Given the description of an element on the screen output the (x, y) to click on. 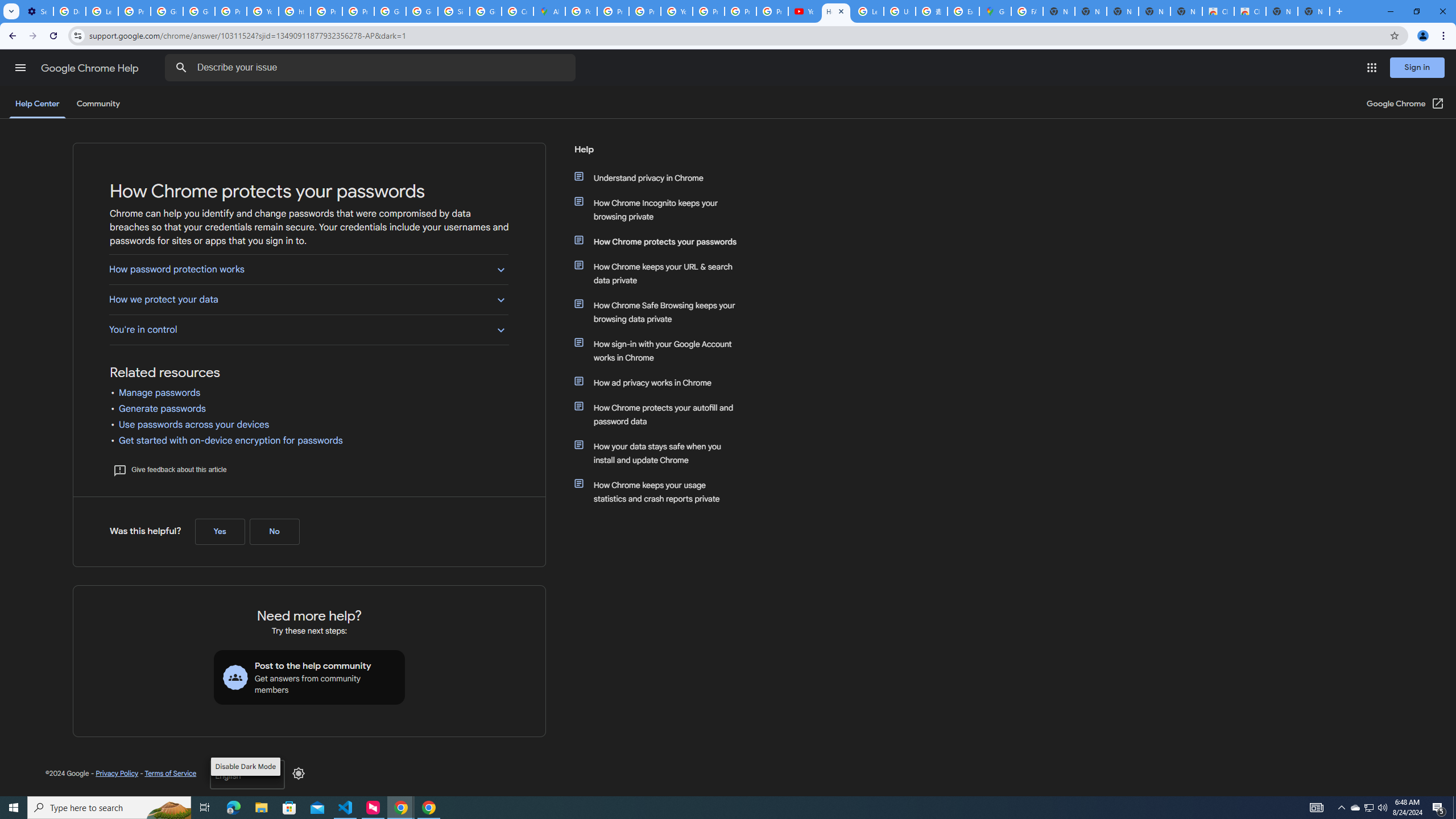
YouTube (262, 11)
Privacy Checkup (740, 11)
How we protect your data (308, 299)
Terms of Service (170, 773)
YouTube (804, 11)
Settings - On startup (37, 11)
Learn how to find your photos - Google Photos Help (101, 11)
How Chrome protects your passwords (661, 241)
Privacy Help Center - Policies Help (613, 11)
